Given the description of an element on the screen output the (x, y) to click on. 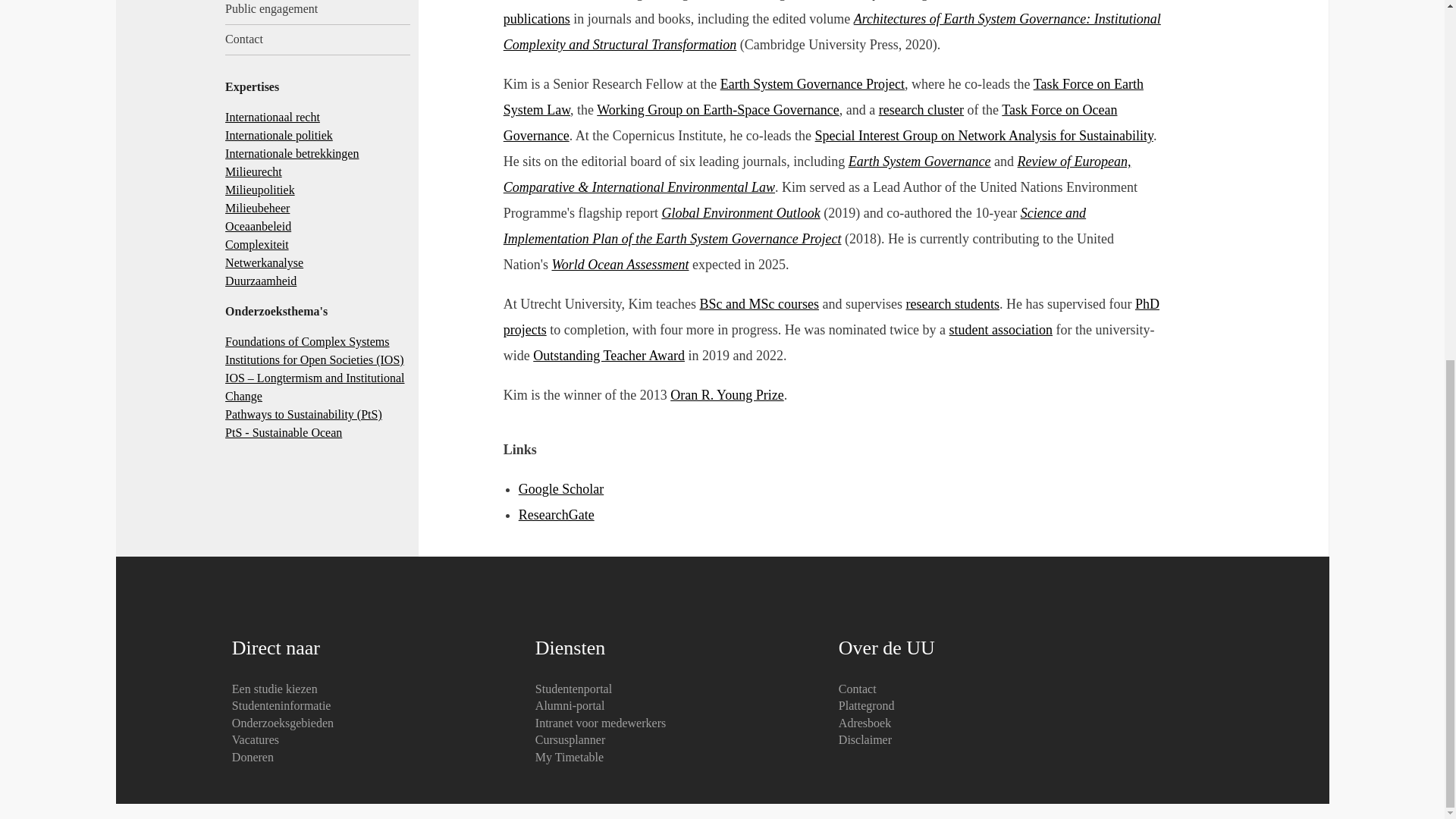
Public engagement (317, 12)
Contact (317, 40)
Milieurecht (253, 171)
Internationale betrekkingen (291, 153)
Internationale politiek (279, 134)
Internationaal recht (272, 116)
Milieupolitiek (260, 189)
